Given the description of an element on the screen output the (x, y) to click on. 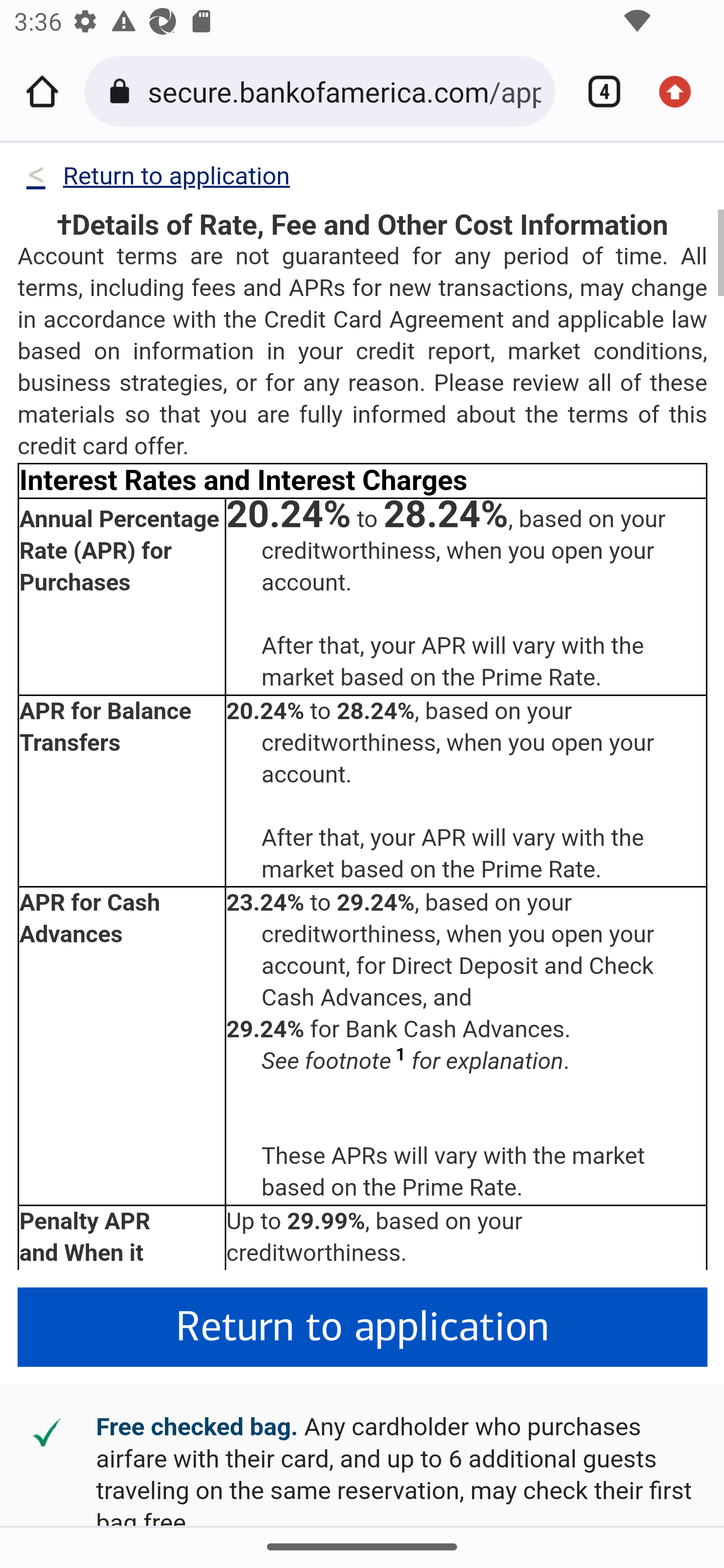
Home (42, 91)
Connection is secure (122, 91)
Switch or close tabs (597, 91)
Update available. More options (681, 91)
<Return to application < Return to application (157, 180)
Return to application (362, 1327)
